Given the description of an element on the screen output the (x, y) to click on. 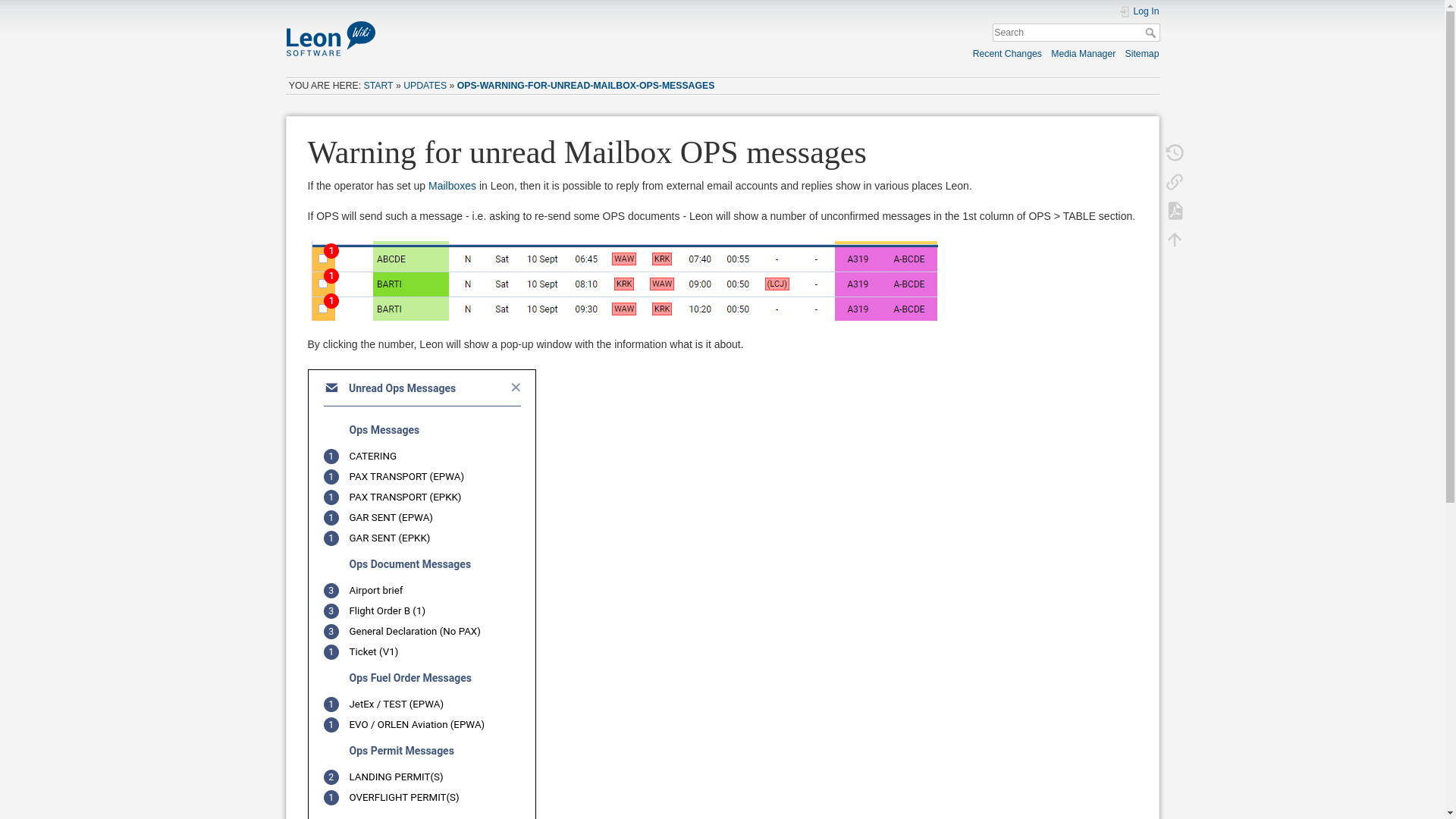
start (378, 85)
Backlinks (1174, 181)
OPS-WARNING-FOR-UNREAD-MAILBOX-OPS-MESSAGES (585, 85)
Media Manager (1083, 53)
Export to PDF (1174, 209)
UPDATES (424, 85)
Search (1151, 32)
Sitemap (1141, 53)
leon:mailboxes (452, 185)
Recent Changes (1007, 53)
updates:start (424, 85)
Log In (1138, 11)
Mailboxes (452, 185)
Search (1151, 32)
Media Manager (1083, 53)
